Given the description of an element on the screen output the (x, y) to click on. 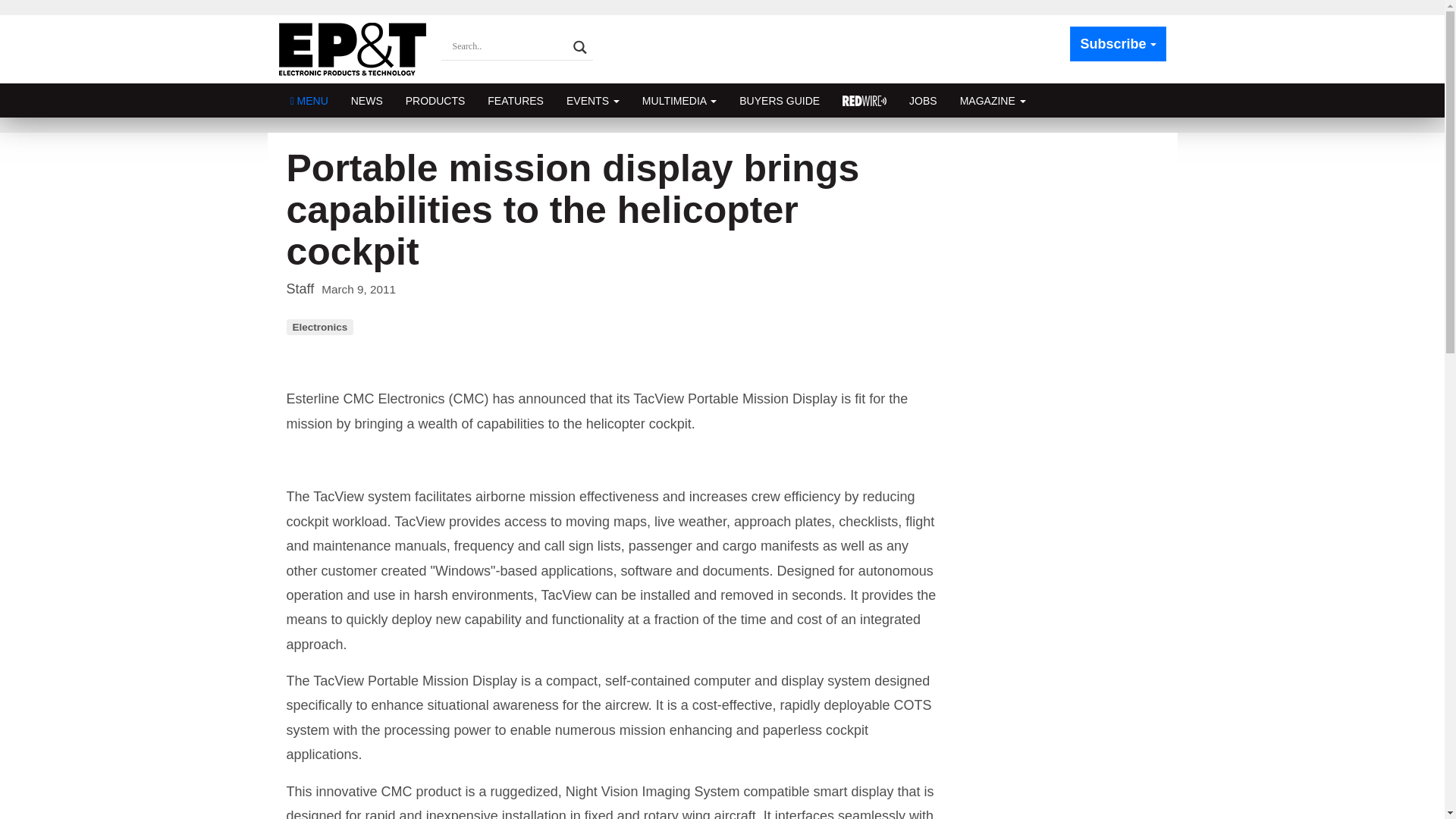
NEWS (366, 100)
PRODUCTS (435, 100)
EVENTS (592, 100)
Click to show site navigation (309, 100)
BUYERS GUIDE (779, 100)
MAGAZINE (992, 100)
Subscribe (1118, 43)
MENU (309, 100)
MULTIMEDIA (679, 100)
FEATURES (515, 100)
